Given the description of an element on the screen output the (x, y) to click on. 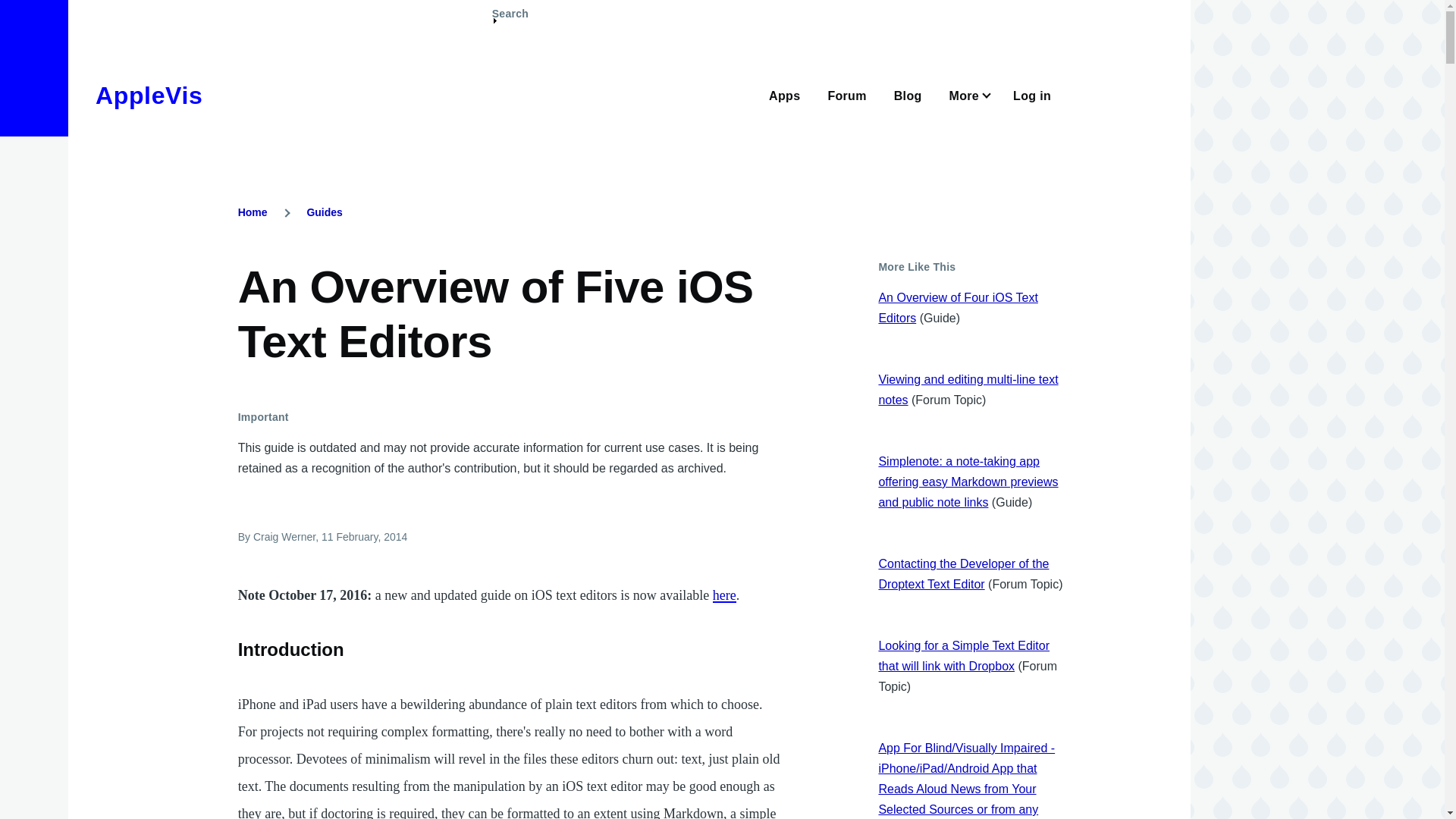
Home (252, 212)
Search (510, 20)
Guides (323, 212)
Skip to main content (595, 6)
Home (149, 94)
AppleVis (149, 94)
here (724, 595)
